Given the description of an element on the screen output the (x, y) to click on. 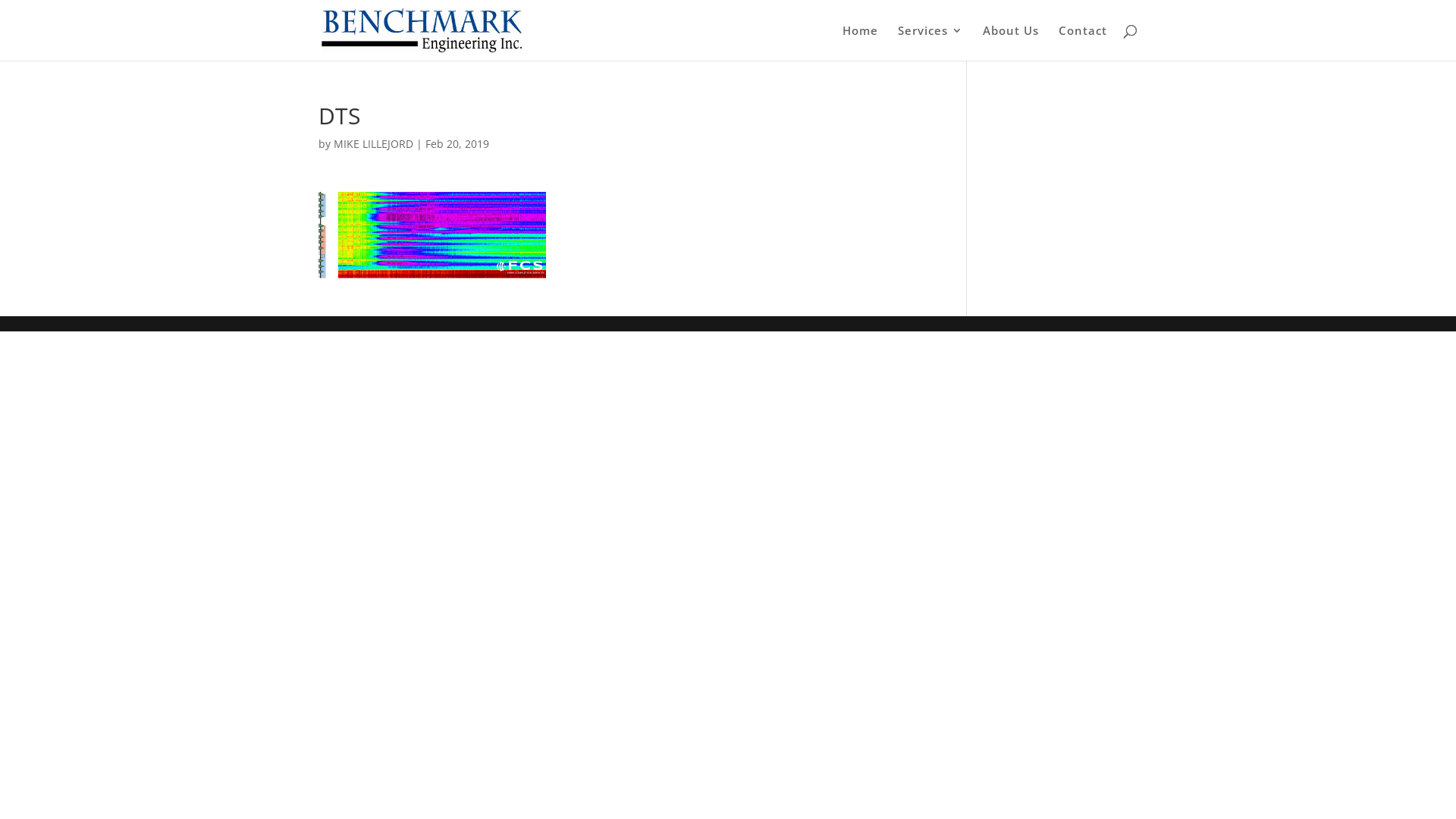
Services Element type: text (930, 42)
Contact Element type: text (1082, 42)
Home Element type: text (860, 42)
About Us Element type: text (1010, 42)
MIKE LILLEJORD Element type: text (373, 143)
